Given the description of an element on the screen output the (x, y) to click on. 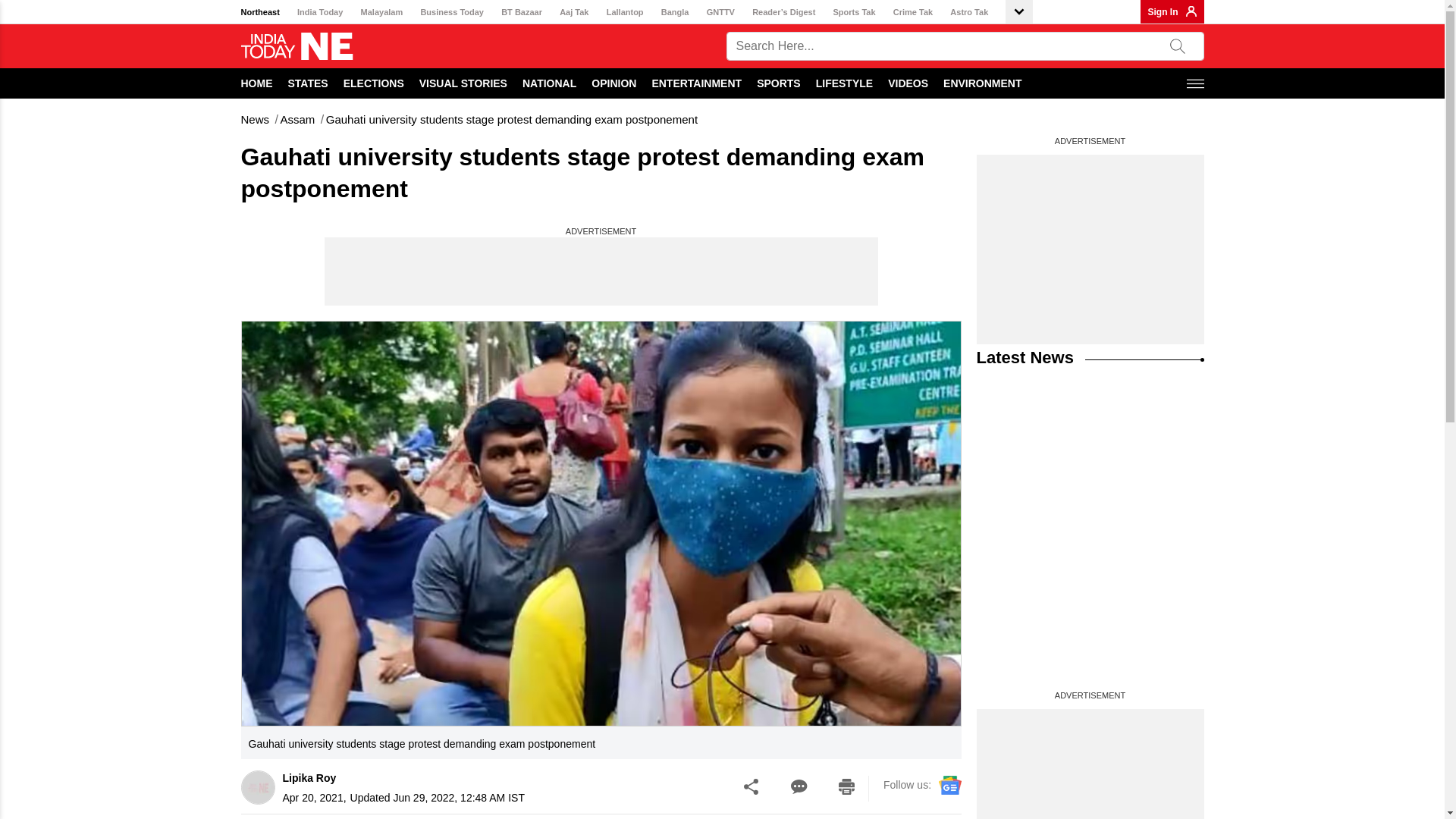
Crime Tak (913, 12)
NATIONAL (549, 82)
Astro Tak (969, 12)
Aaj Tak (573, 12)
Crime Tak (913, 12)
Sports Tak (854, 12)
Lallantop (625, 12)
Northeast (260, 12)
Business Today (451, 12)
VISUAL STORIES (462, 82)
